Given the description of an element on the screen output the (x, y) to click on. 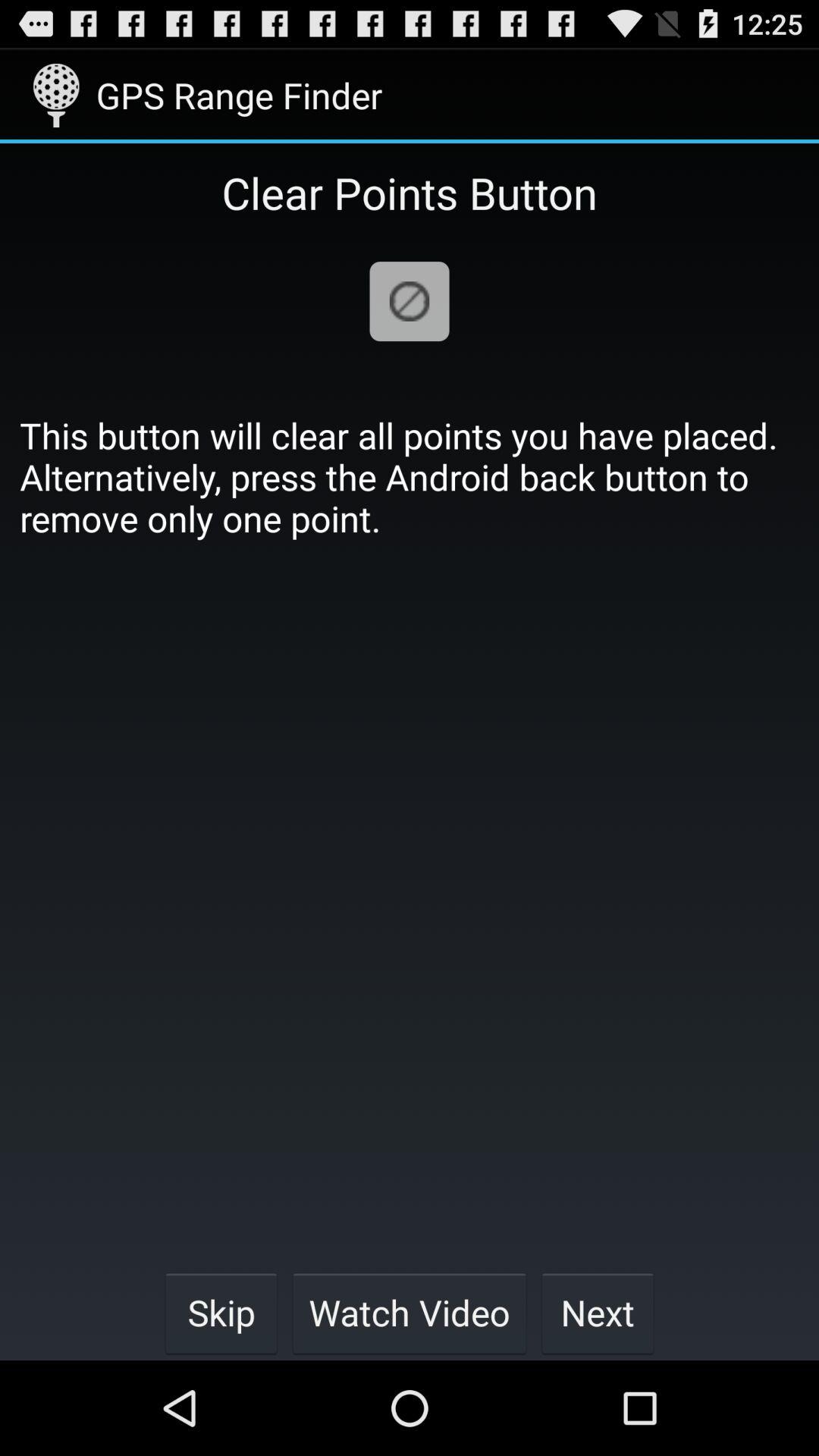
choose the button at the bottom right corner (597, 1312)
